Given the description of an element on the screen output the (x, y) to click on. 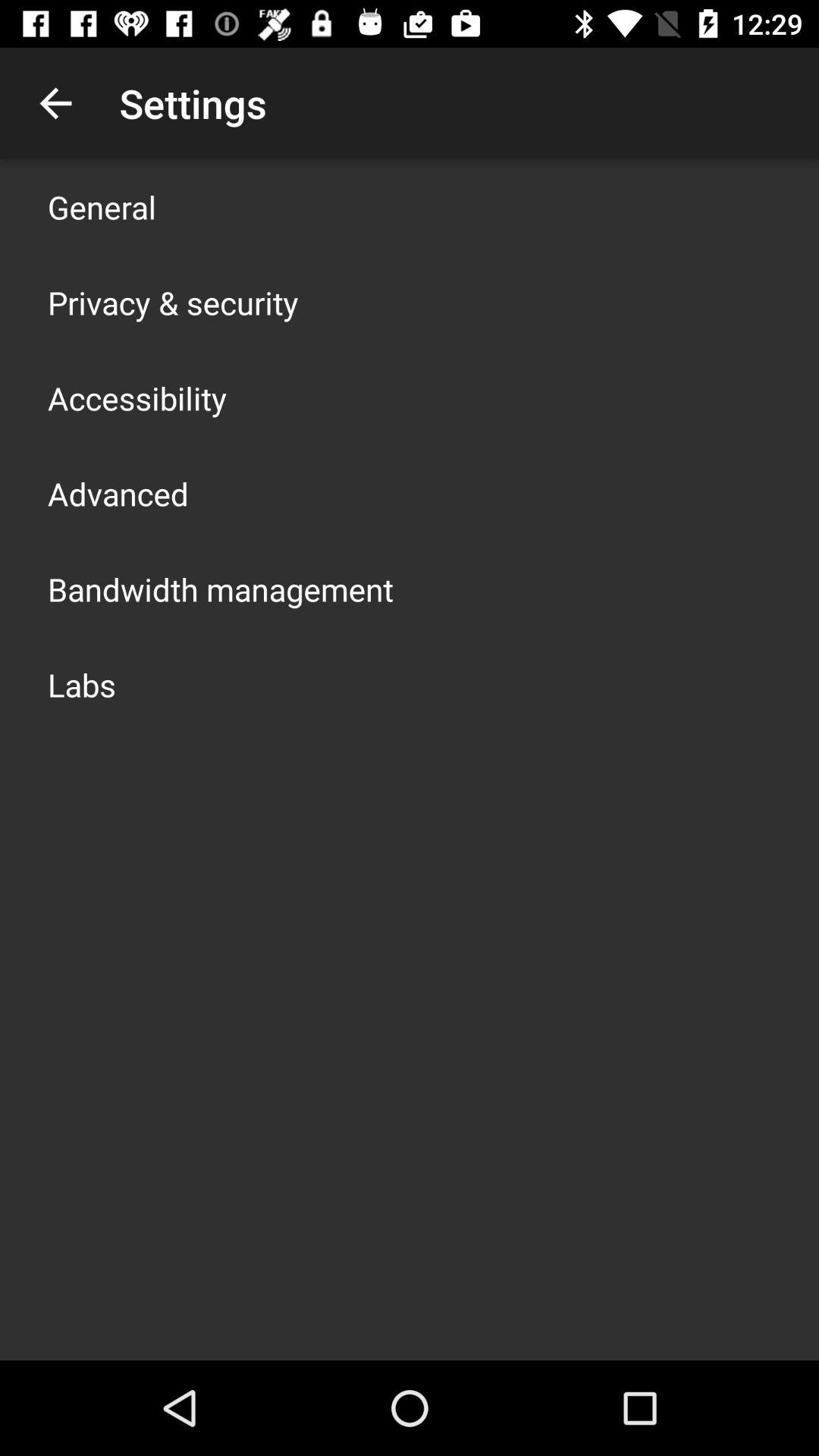
click bandwidth management icon (220, 588)
